Given the description of an element on the screen output the (x, y) to click on. 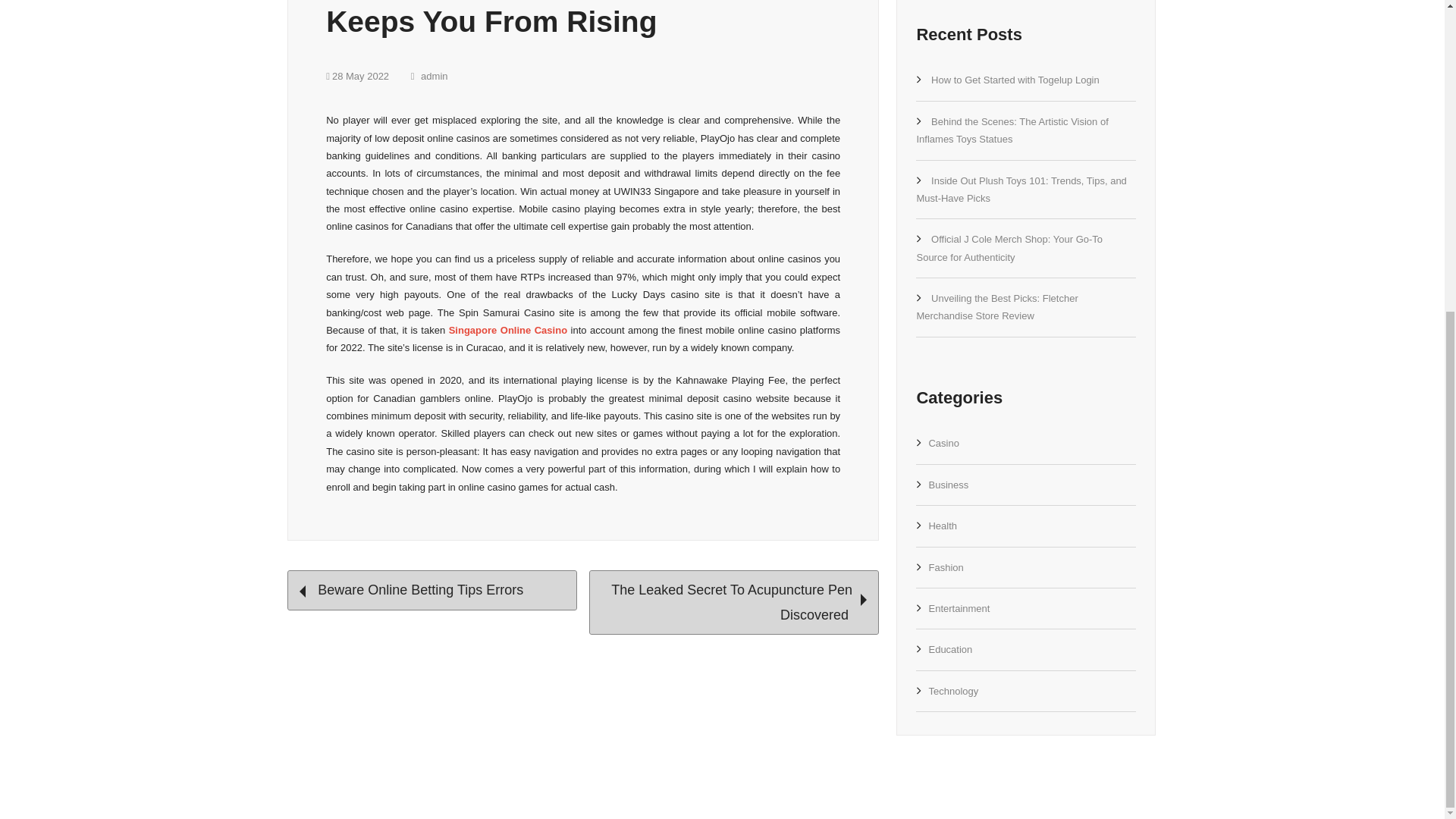
Singapore Online Casino (507, 329)
Technology (953, 690)
How to Get Started with Togelup Login (1015, 79)
Education (950, 649)
Unveiling the Best Picks: Fletcher Merchandise Store Review (996, 306)
Health (942, 525)
Inside Out Plush Toys 101: Trends, Tips, and Must-Have Picks (1020, 189)
Business (948, 484)
Fashion (945, 567)
